Given the description of an element on the screen output the (x, y) to click on. 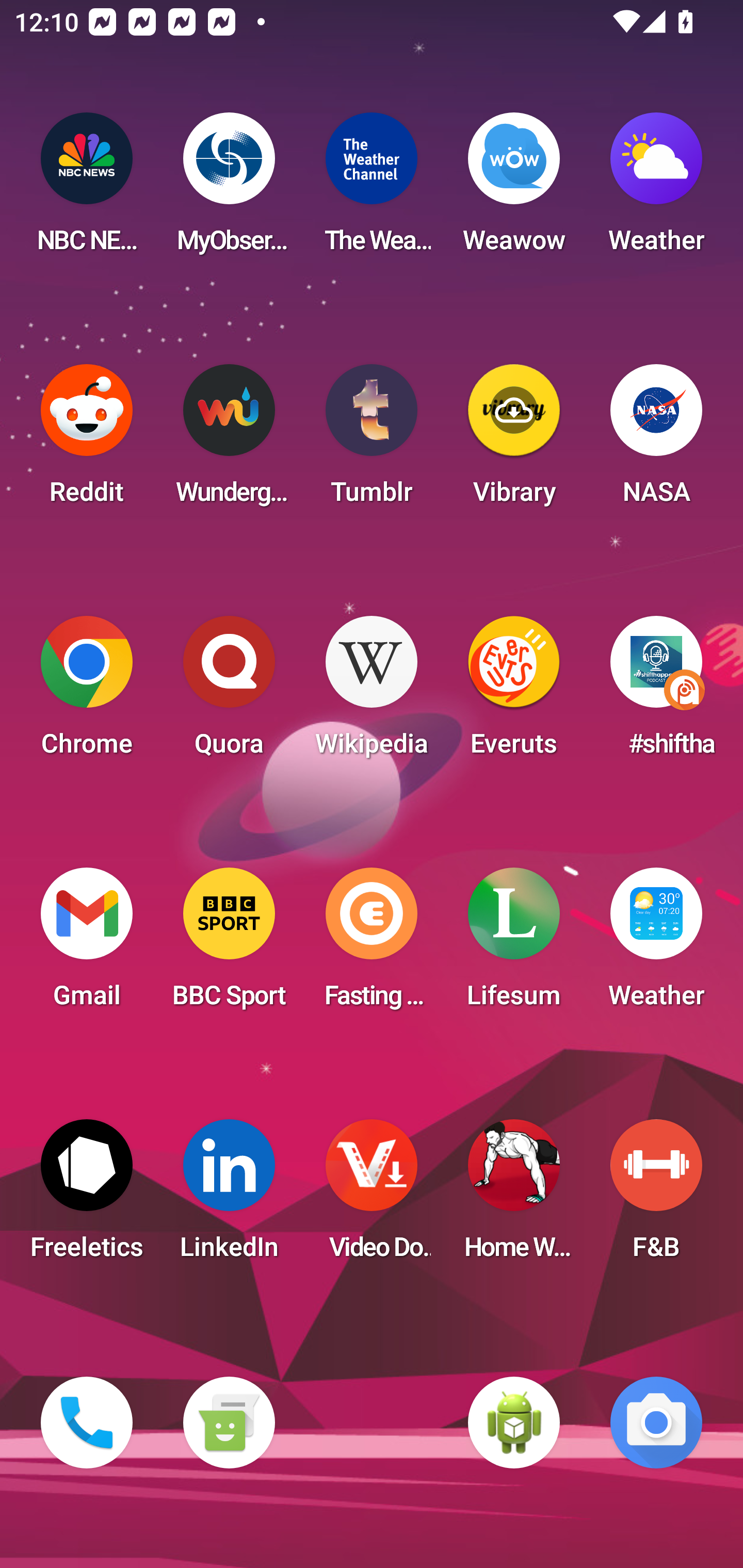
NBC NEWS (86, 188)
MyObservatory (228, 188)
The Weather Channel (371, 188)
Weawow (513, 188)
Weather (656, 188)
Reddit (86, 440)
Wunderground (228, 440)
Tumblr (371, 440)
Vibrary (513, 440)
NASA (656, 440)
Chrome (86, 692)
Quora (228, 692)
Wikipedia (371, 692)
Everuts (513, 692)
#shifthappens in the Digital Workplace Podcast (656, 692)
Gmail (86, 943)
BBC Sport (228, 943)
Fasting Coach (371, 943)
Lifesum (513, 943)
Weather (656, 943)
Freeletics (86, 1195)
LinkedIn (228, 1195)
Video Downloader & Ace Player (371, 1195)
Home Workout (513, 1195)
F&B (656, 1195)
Phone (86, 1422)
Messaging (228, 1422)
WebView Browser Tester (513, 1422)
Camera (656, 1422)
